Given the description of an element on the screen output the (x, y) to click on. 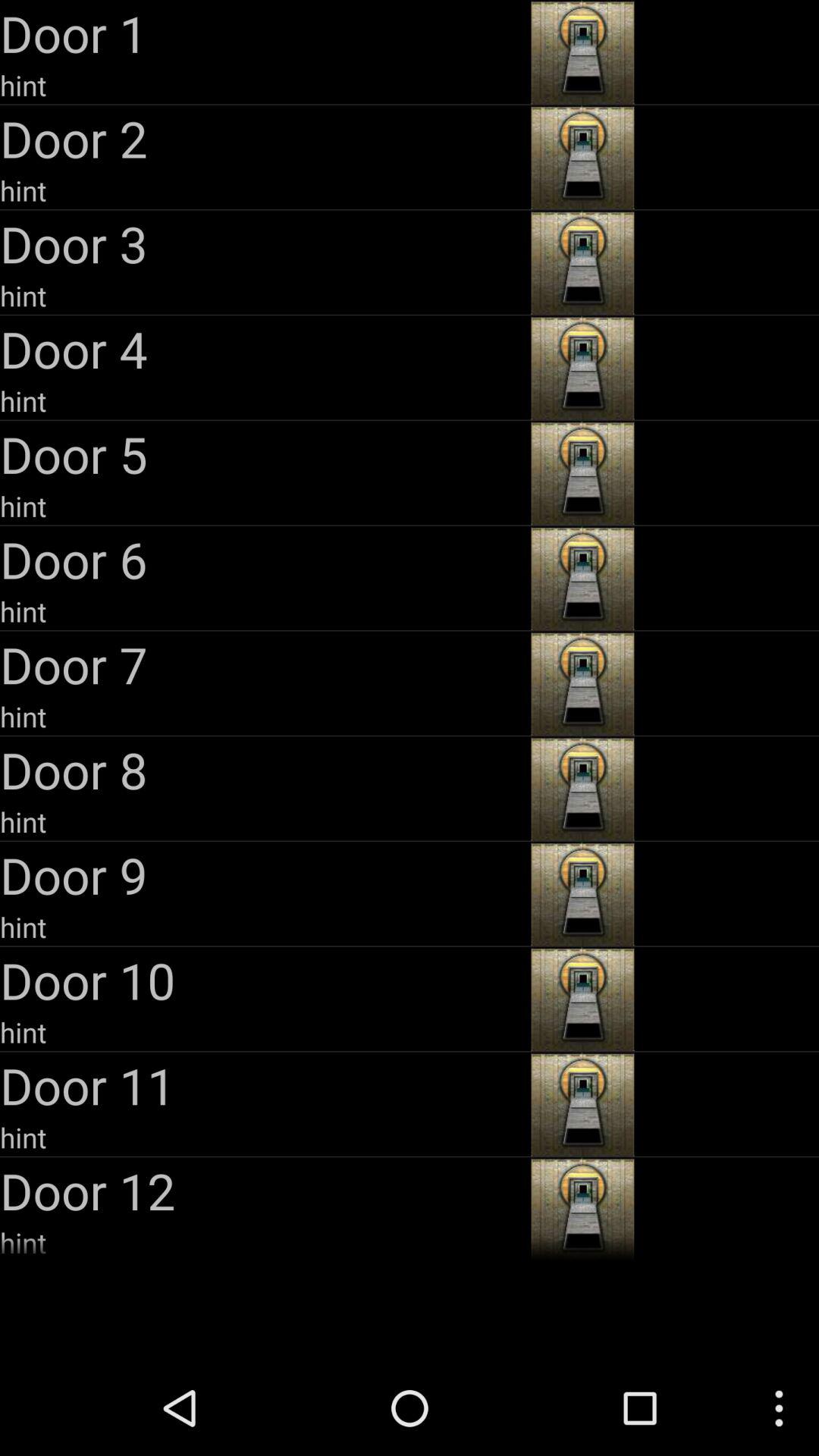
choose icon below the hint icon (263, 664)
